Given the description of an element on the screen output the (x, y) to click on. 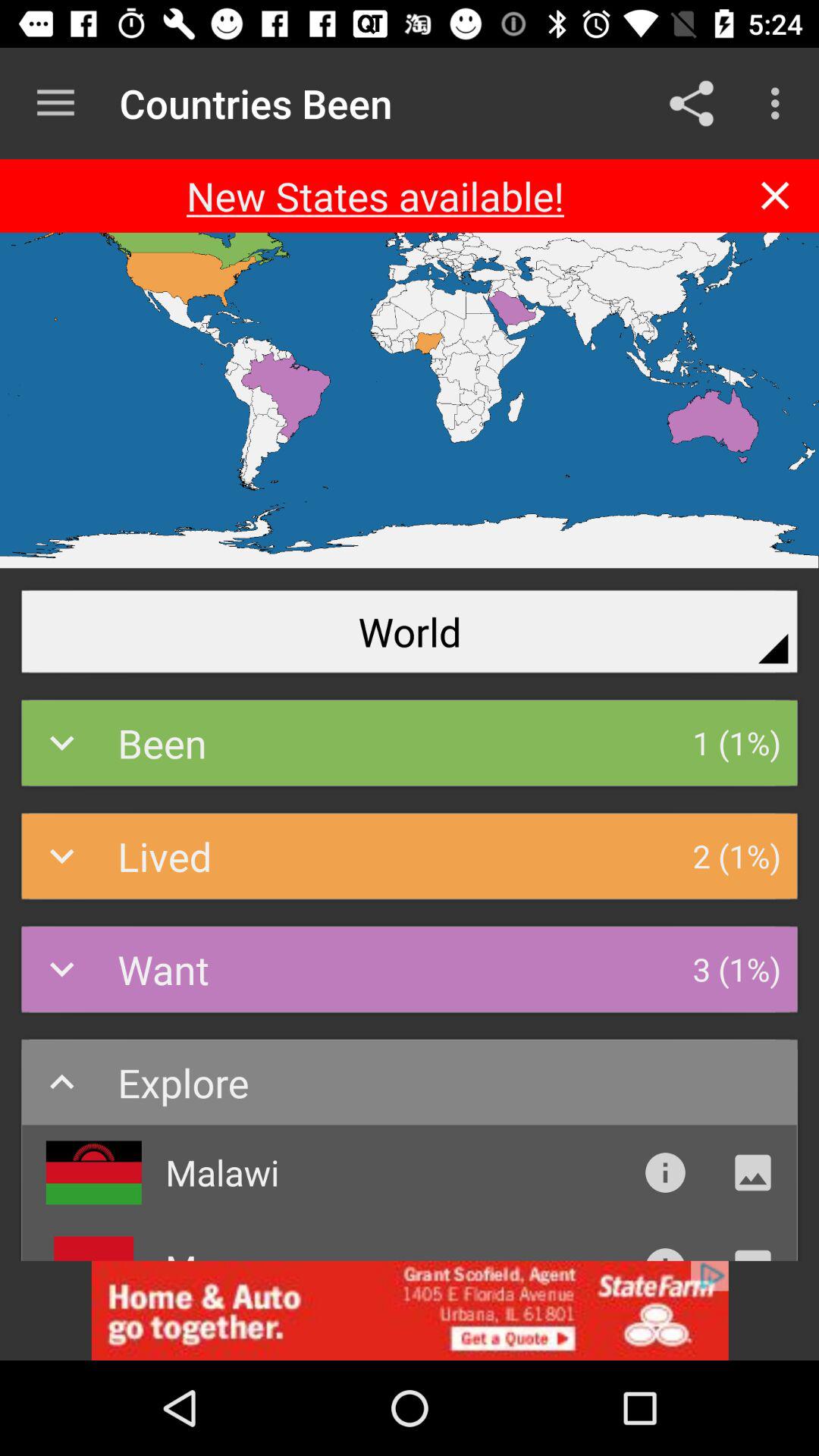
select the add i (409, 1310)
